Given the description of an element on the screen output the (x, y) to click on. 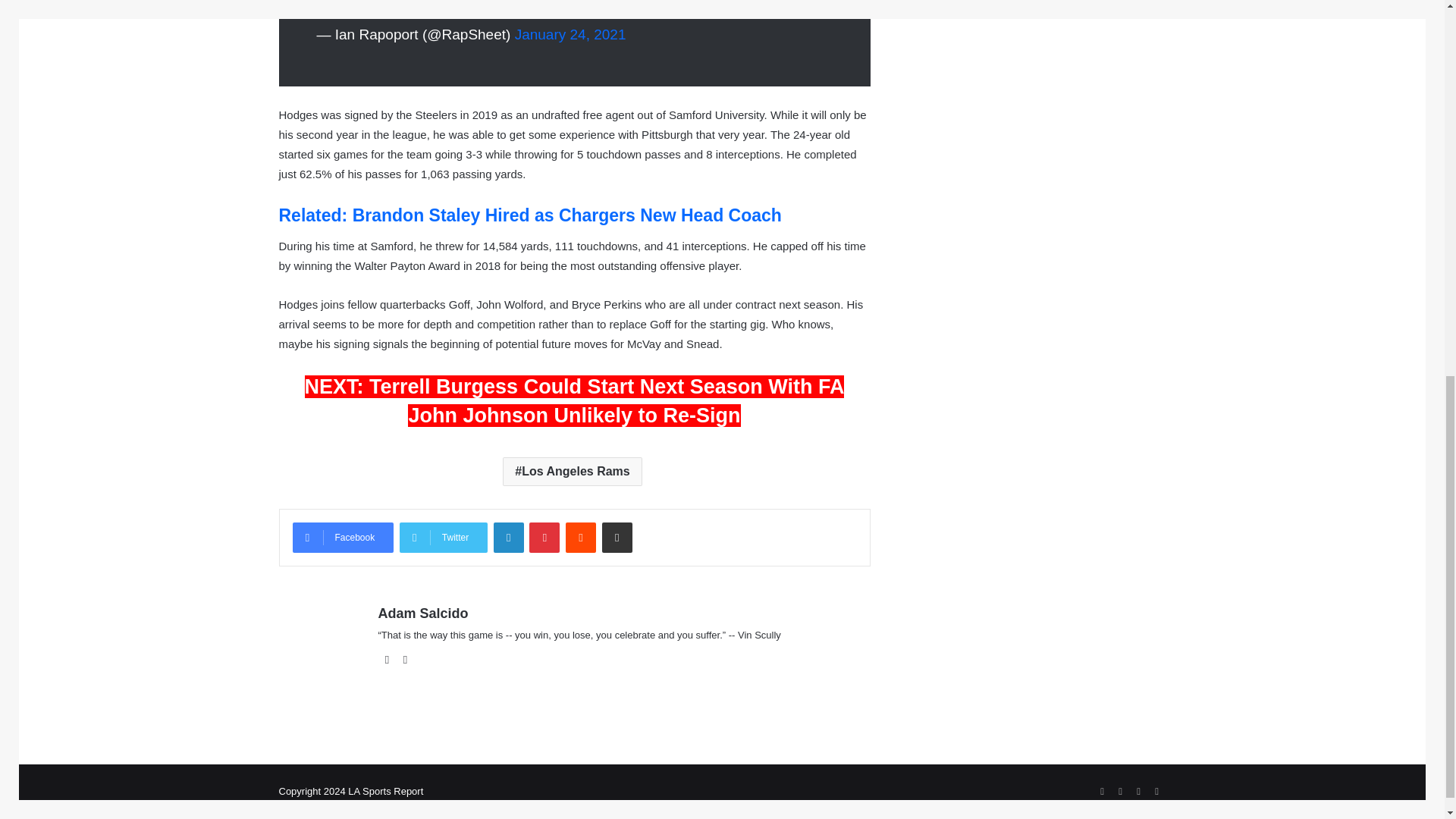
Pinterest (544, 537)
Share via Email (616, 537)
Pinterest (544, 537)
Facebook (343, 537)
Los Angeles Rams (572, 471)
Facebook (343, 537)
Related: Brandon Staley Hired as Chargers New Head Coach (530, 215)
Twitter (442, 537)
Share via Email (616, 537)
Adam Salcido (422, 613)
